Given the description of an element on the screen output the (x, y) to click on. 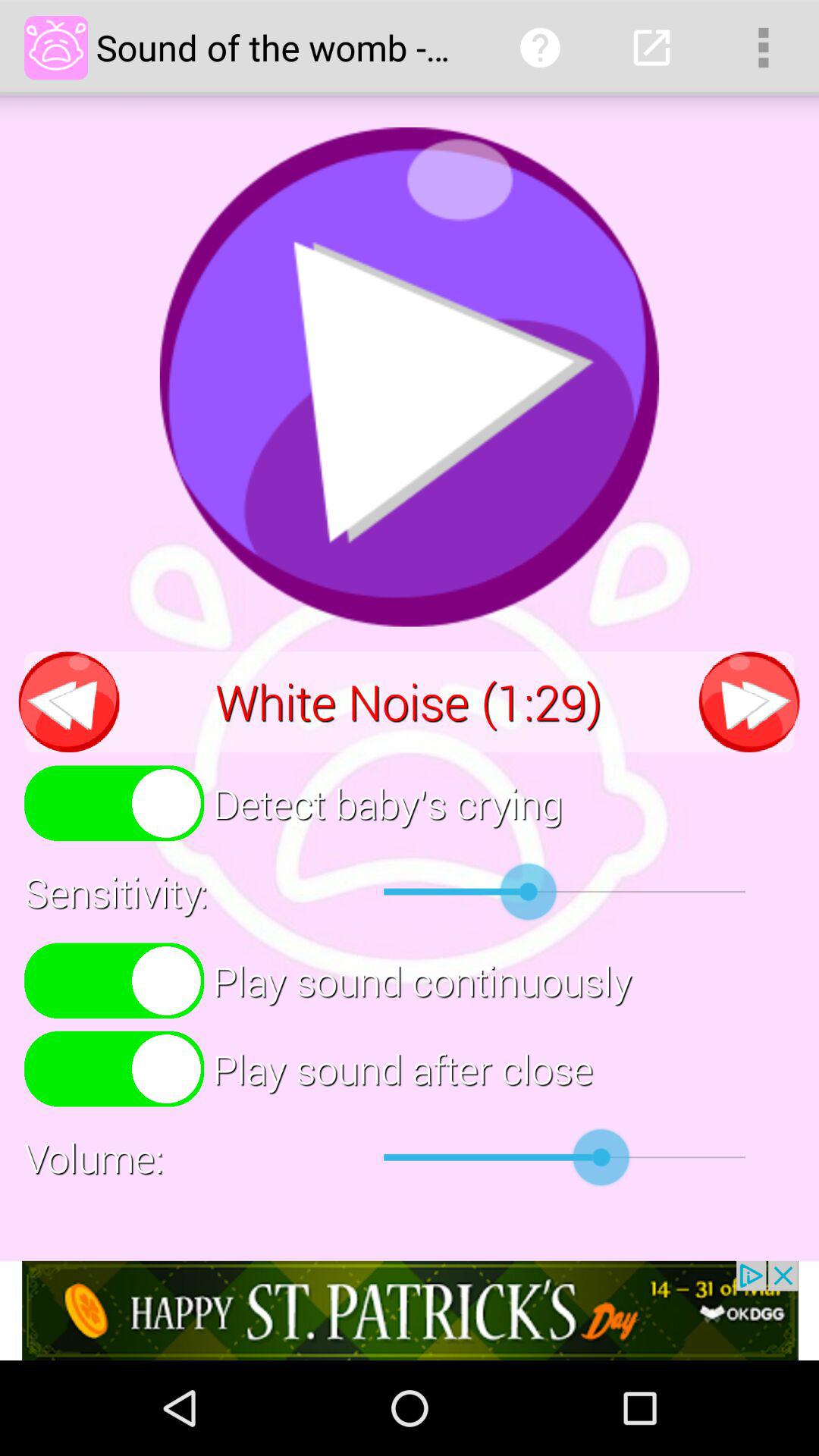
go to play opption (409, 376)
